Given the description of an element on the screen output the (x, y) to click on. 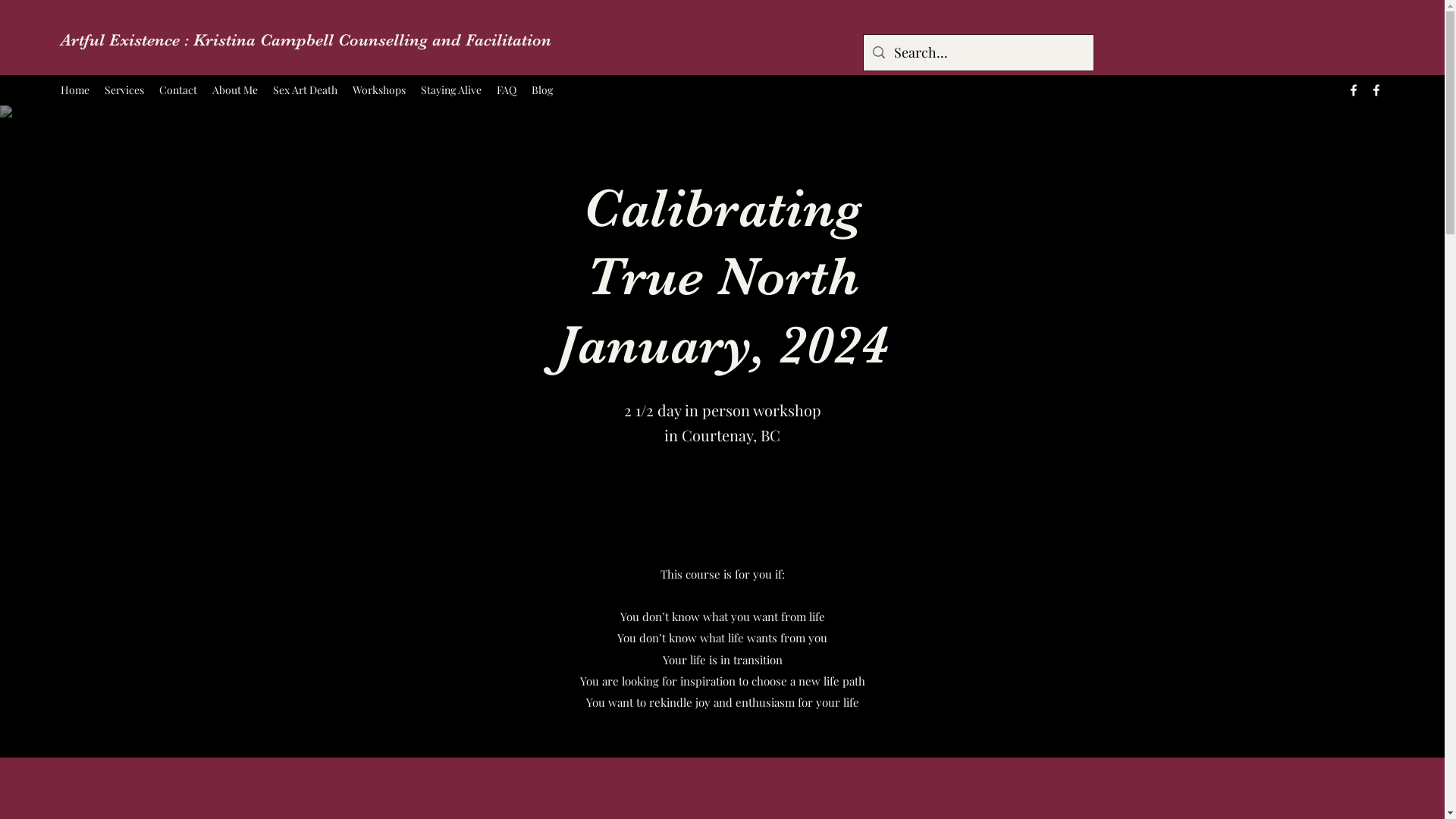
About Me Element type: text (234, 89)
FAQ Element type: text (506, 89)
Home Element type: text (75, 89)
Blog Element type: text (542, 89)
Sex Art Death Element type: text (305, 89)
Staying Alive Element type: text (451, 89)
Workshops Element type: text (379, 89)
Services Element type: text (124, 89)
Contact Element type: text (177, 89)
